Given the description of an element on the screen output the (x, y) to click on. 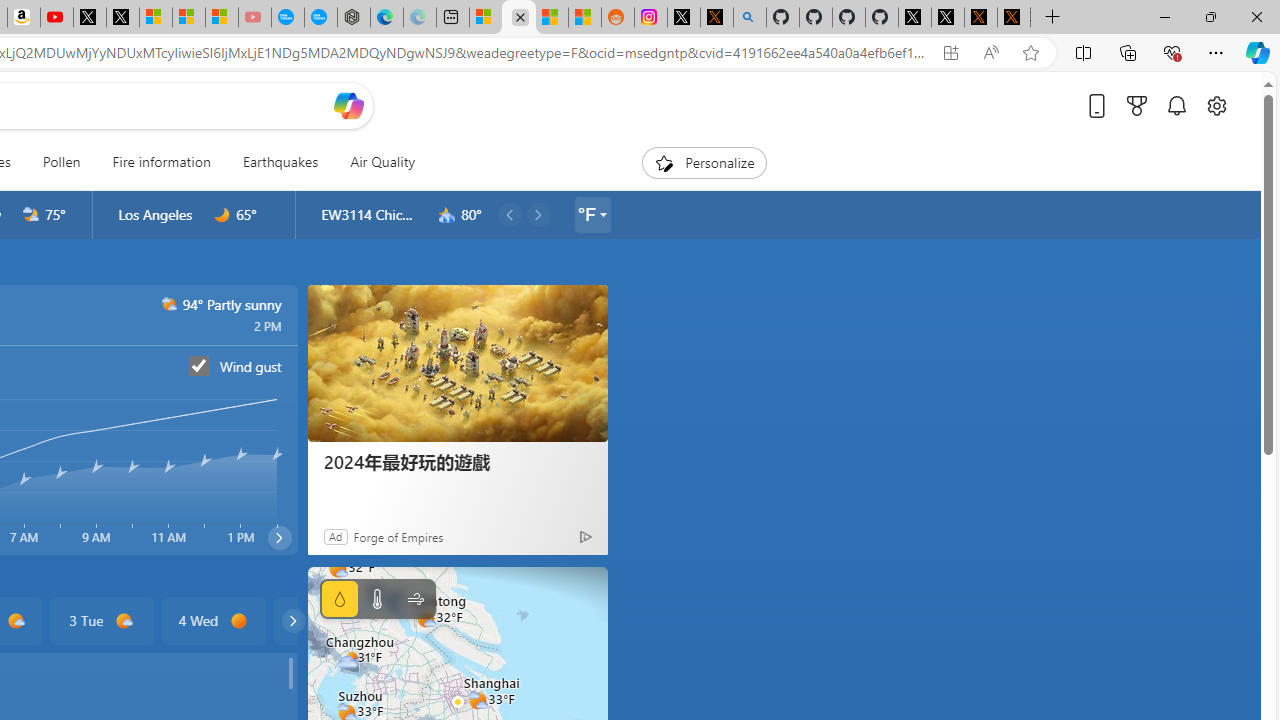
n3200 (447, 215)
App available. Install Microsoft Start Weather (950, 53)
Air Quality (375, 162)
Air Quality (382, 162)
Shanghai, China Weather trends | Microsoft Weather (585, 17)
Wind (414, 599)
